Given the description of an element on the screen output the (x, y) to click on. 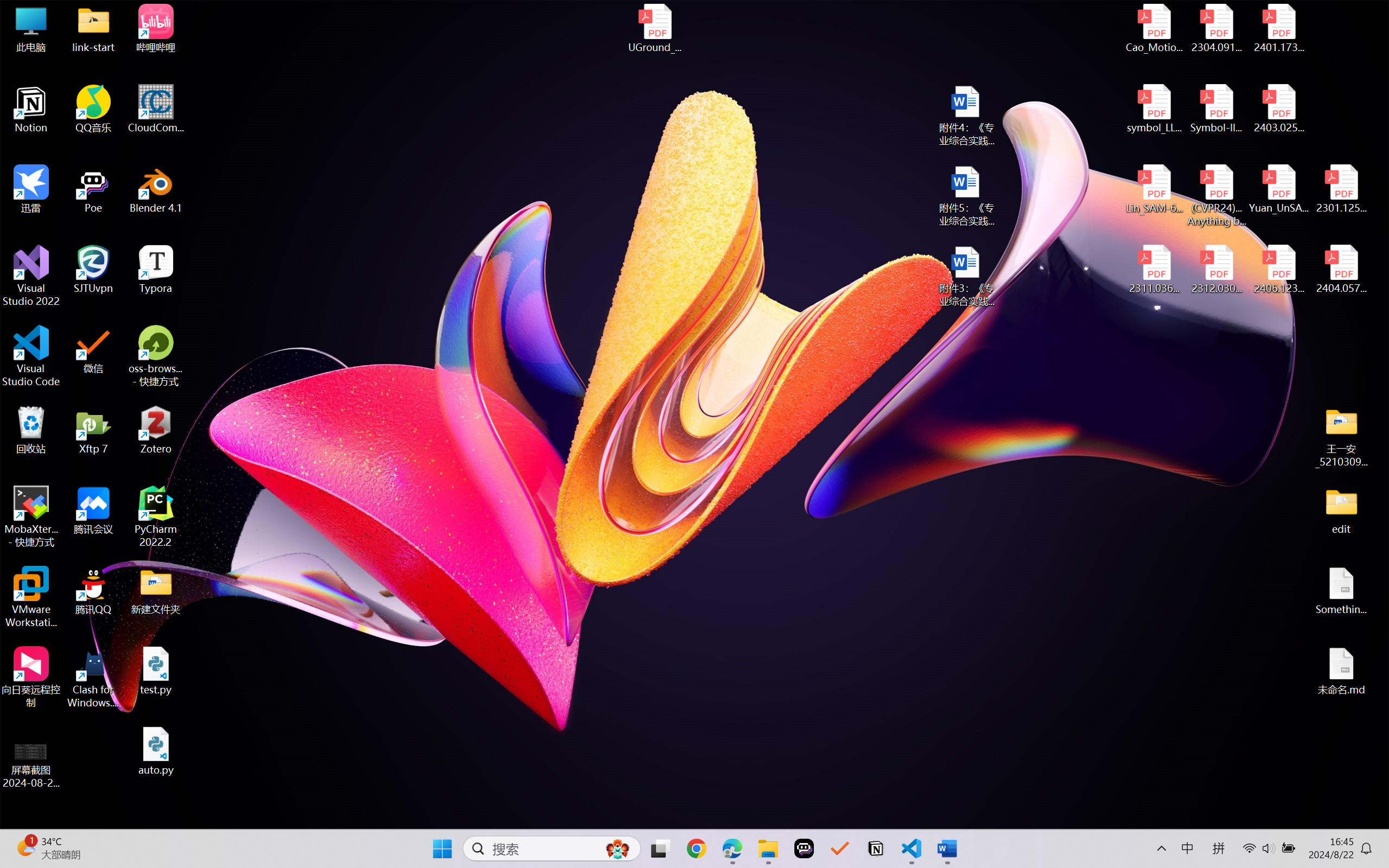
Typora (156, 269)
edit (1340, 510)
Xftp 7 (93, 430)
2404.05719v1.pdf (1340, 269)
2406.12373v2.pdf (1278, 269)
(CVPR24)Matching Anything by Segmenting Anything.pdf (1216, 195)
2312.03032v2.pdf (1216, 269)
2304.09121v3.pdf (1216, 28)
symbol_LLM.pdf (1154, 109)
